Given the description of an element on the screen output the (x, y) to click on. 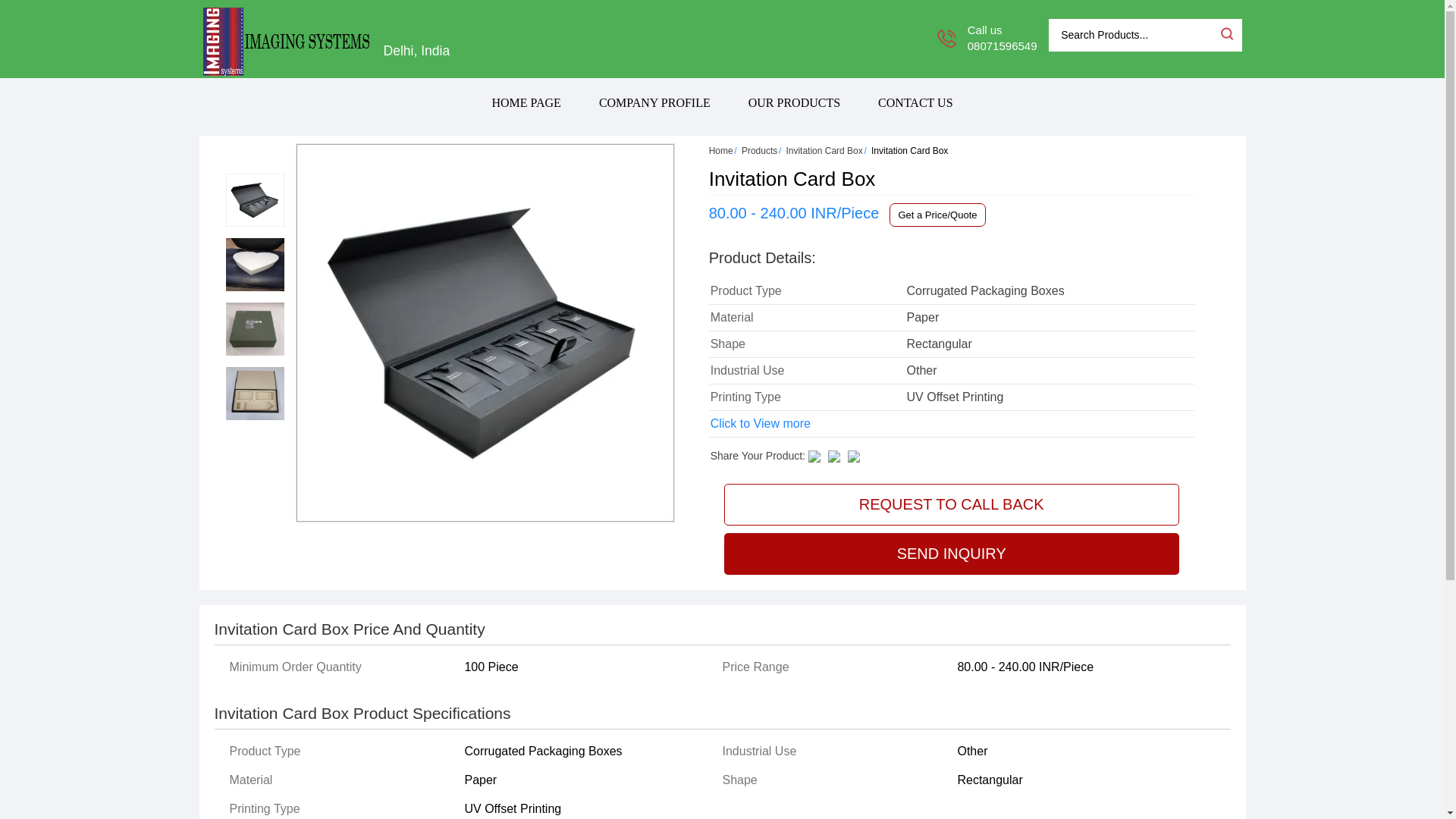
Search Products... (1133, 34)
CONTACT US (915, 102)
OUR PRODUCTS (794, 102)
Products (759, 150)
Click to View more (760, 423)
Search Products... (1133, 34)
COMPANY PROFILE (654, 102)
REQUEST TO CALL BACK (951, 504)
submit (1225, 33)
HOME PAGE (525, 102)
